Given the description of an element on the screen output the (x, y) to click on. 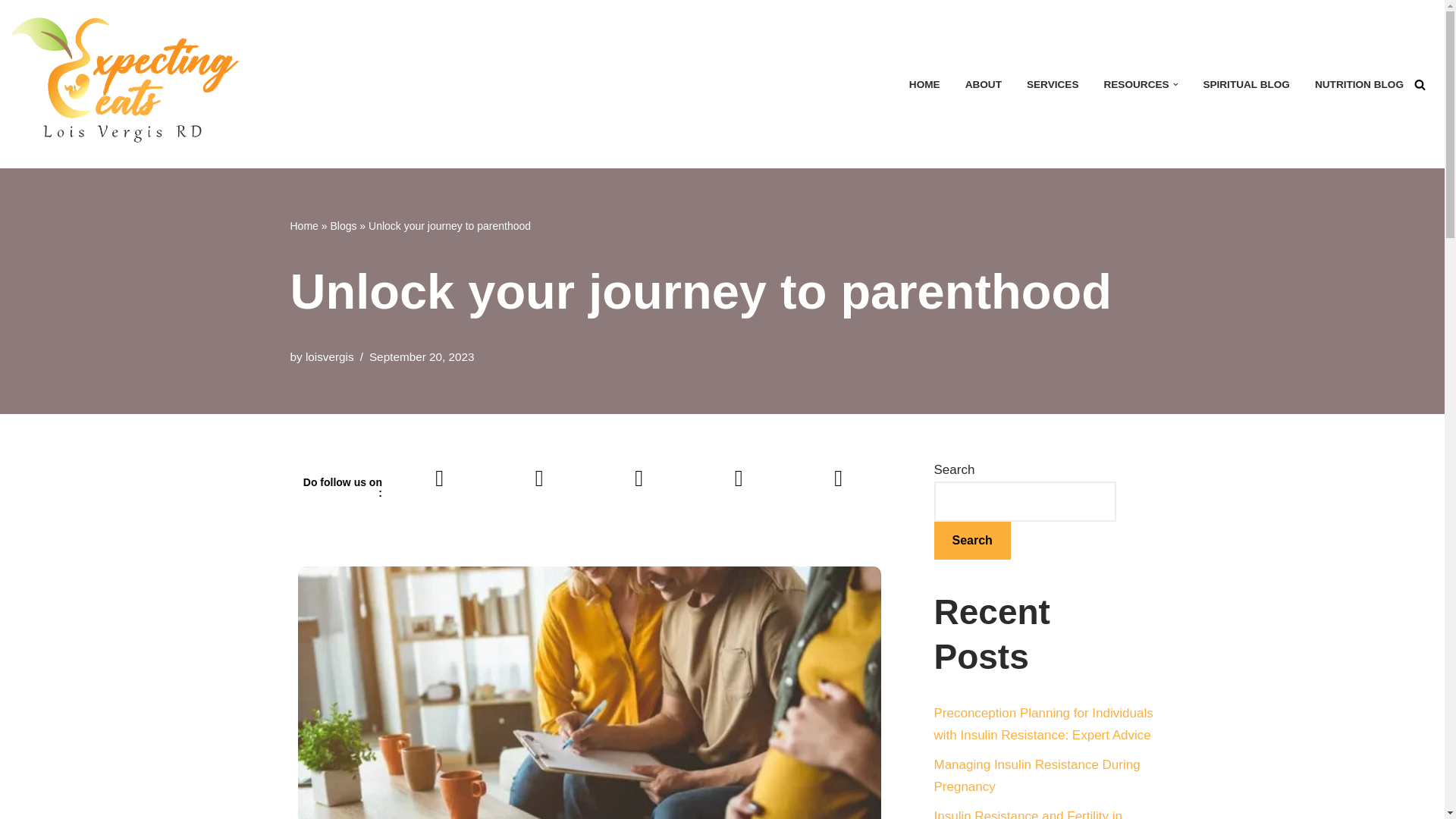
Home (303, 225)
SERVICES (1052, 84)
Posts by loisvergis (329, 356)
Blogs (343, 225)
loisvergis (329, 356)
Skip to content (11, 31)
ABOUT (983, 84)
NUTRITION BLOG (1358, 84)
SPIRITUAL BLOG (1246, 84)
HOME (924, 84)
RESOURCES (1136, 84)
